Given the description of an element on the screen output the (x, y) to click on. 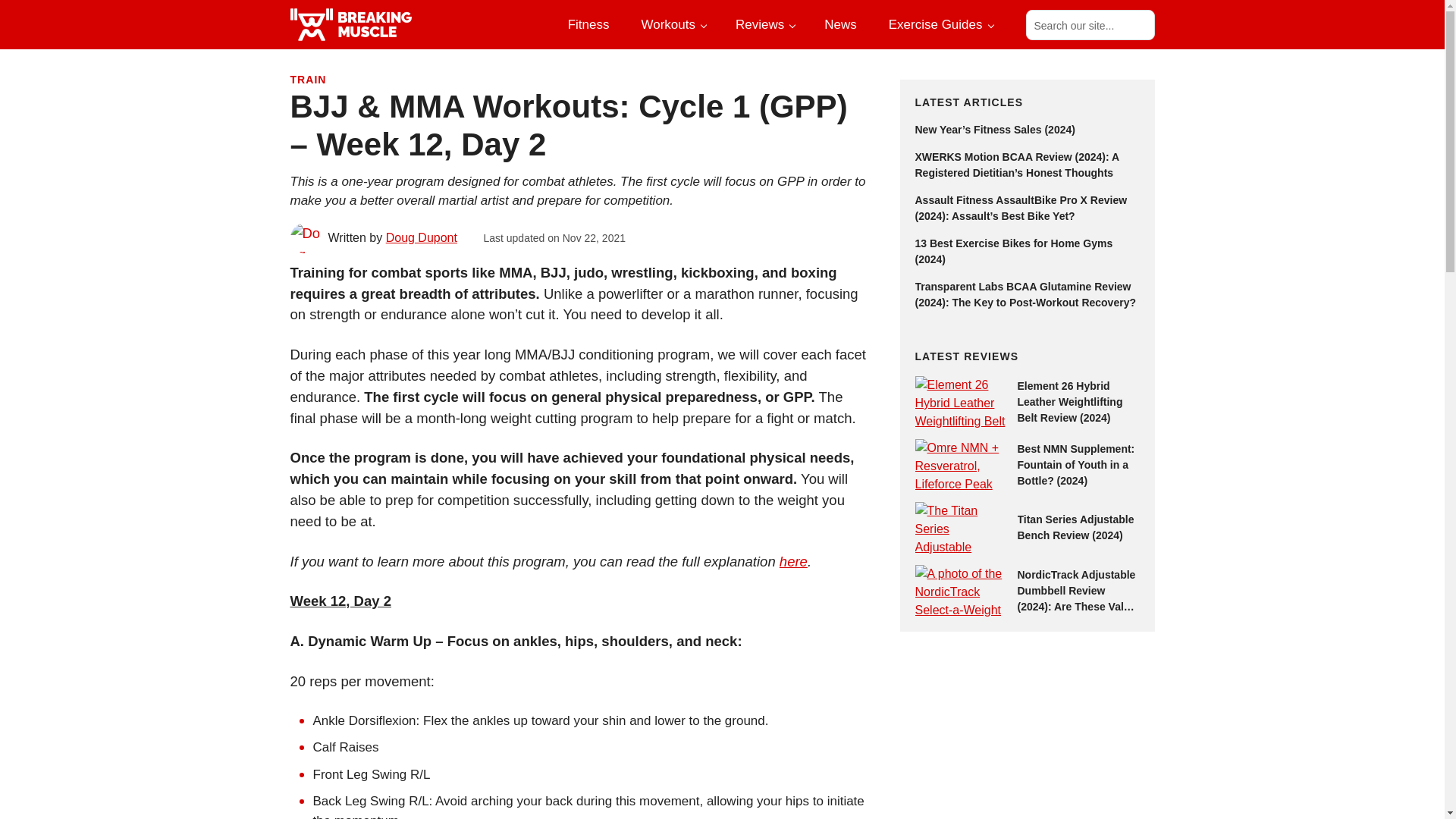
Fitness (588, 24)
Submit search (1138, 24)
Workouts (672, 24)
Reviews (764, 24)
Submit search (1138, 24)
